Given the description of an element on the screen output the (x, y) to click on. 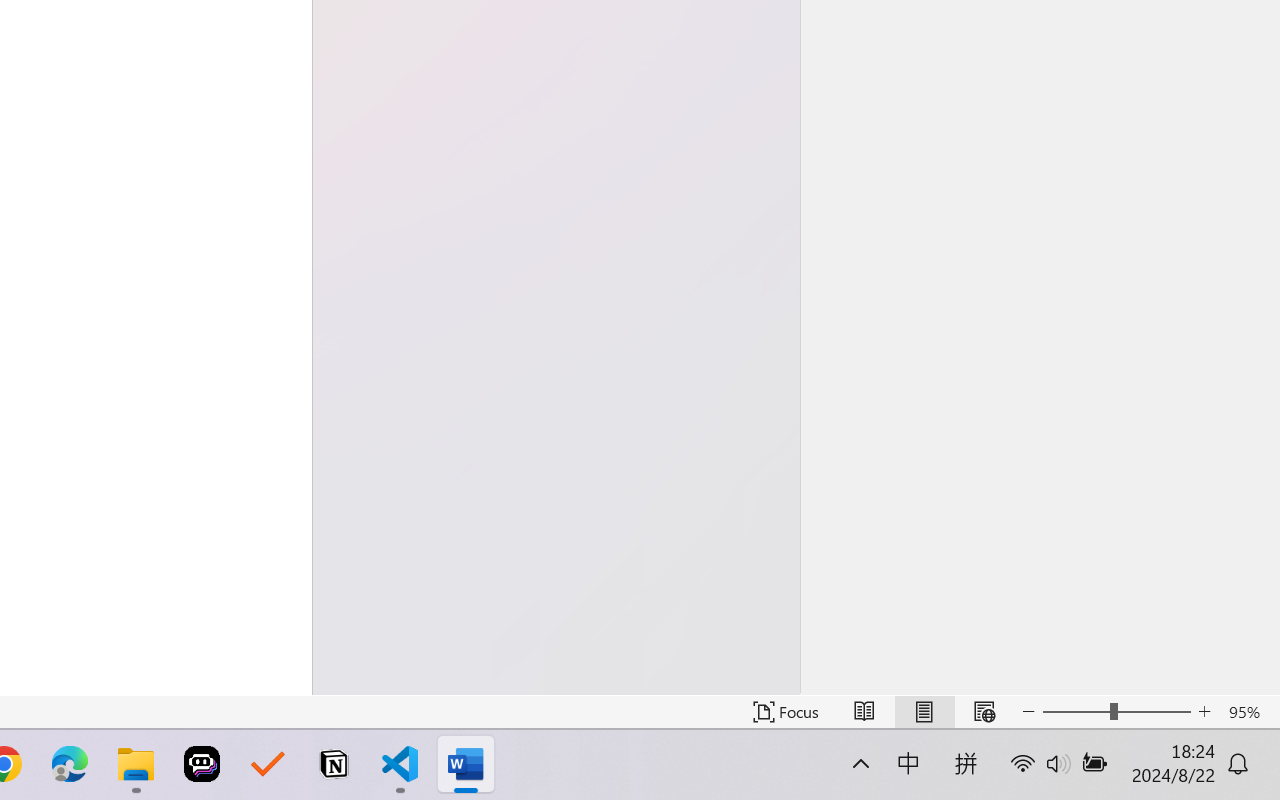
Zoom 95% (1249, 712)
